Given the description of an element on the screen output the (x, y) to click on. 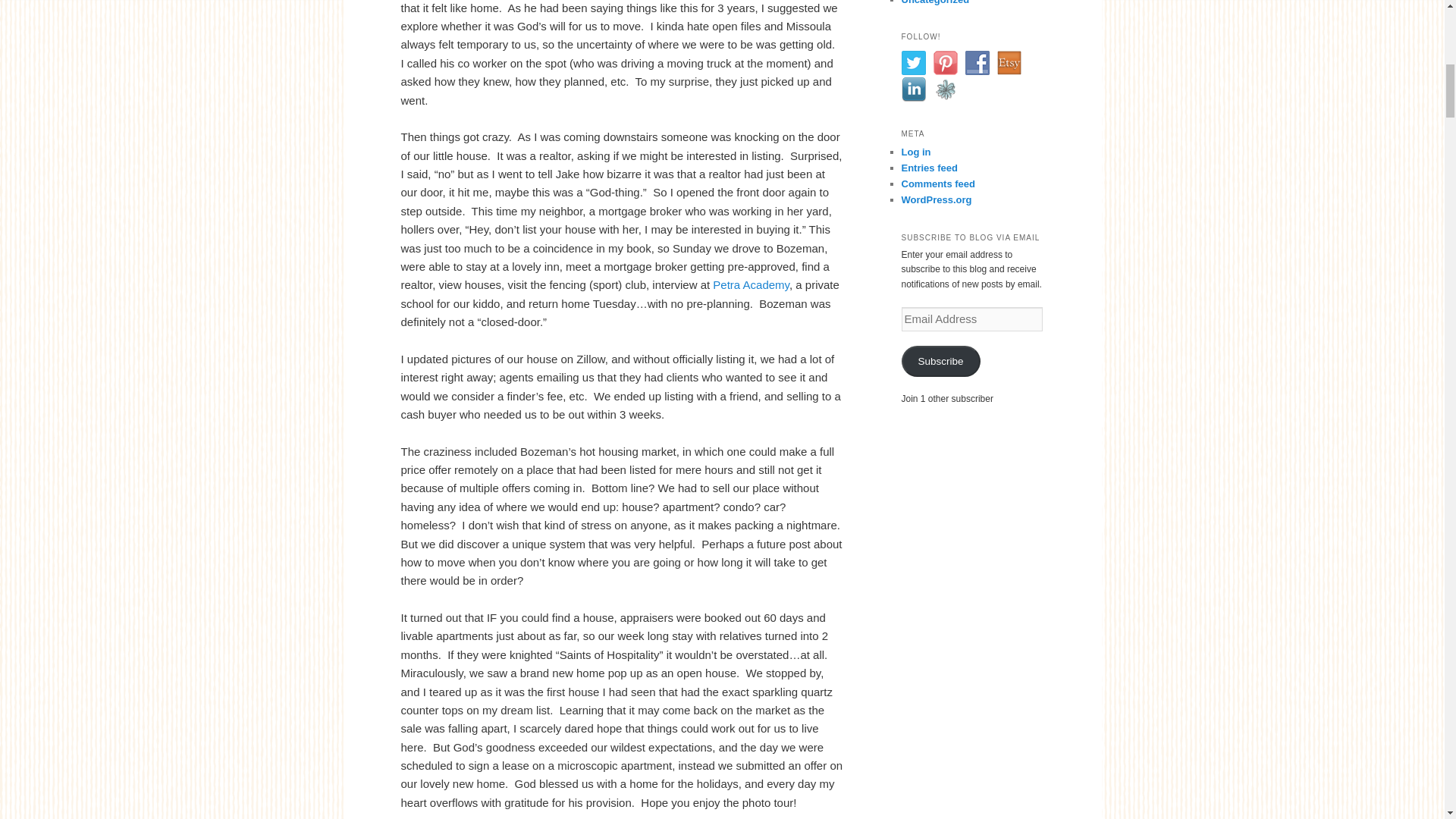
 Spoonflower (944, 88)
Petra Academy (751, 284)
 Pinterest (944, 62)
 Twitter (912, 62)
 Etsy (1007, 62)
 LinkedIn (912, 88)
 Facebook (975, 62)
